Given the description of an element on the screen output the (x, y) to click on. 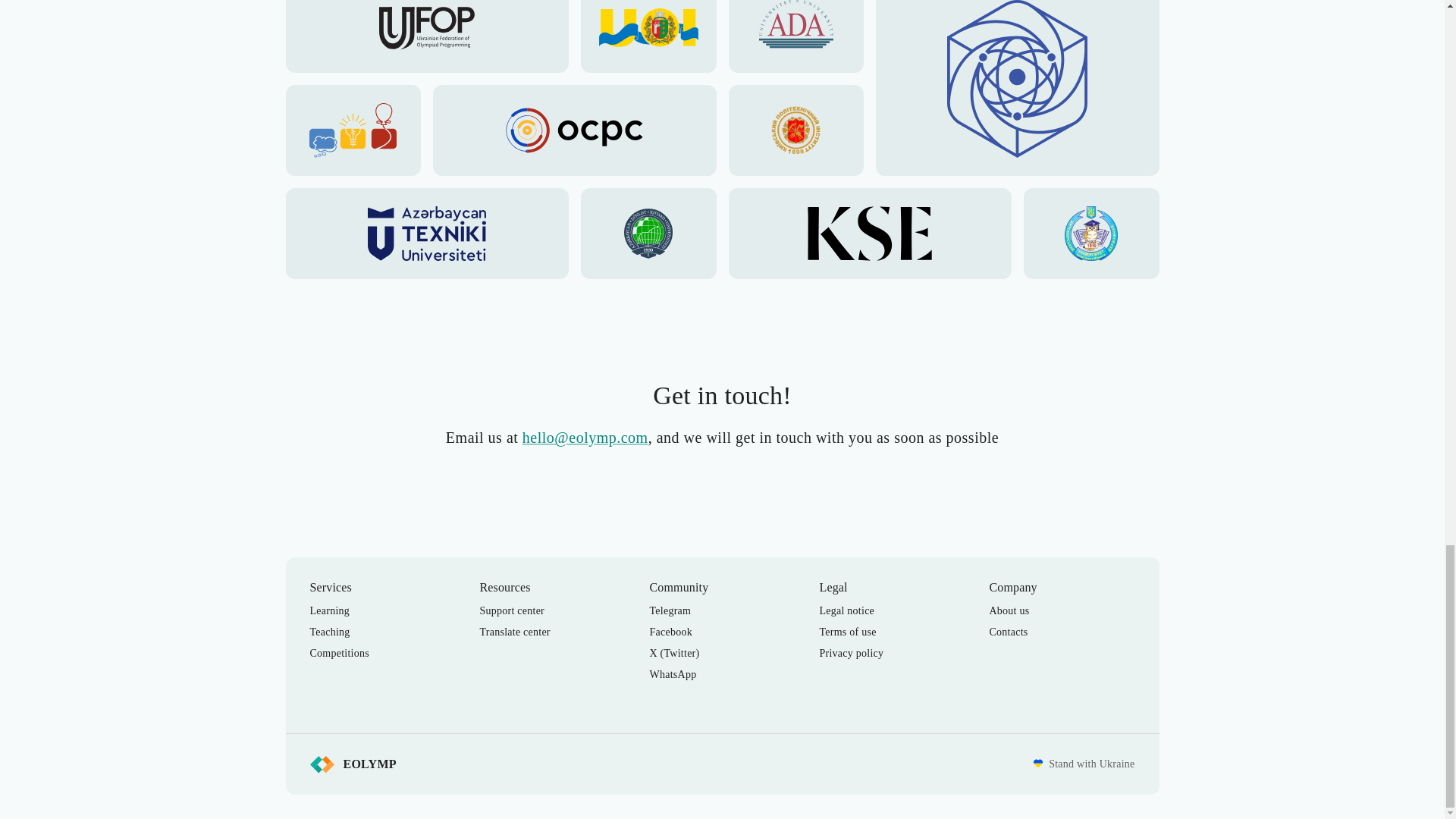
About us (1008, 610)
WhatsApp (672, 674)
UNEC (648, 233)
AZTU (426, 233)
Ukrainian Olympiad in Informatics (648, 36)
Privacy policy (850, 653)
Ukrainian Federation of Olympiad Programming (426, 36)
Support center (511, 610)
Terms of use (847, 632)
